Given the description of an element on the screen output the (x, y) to click on. 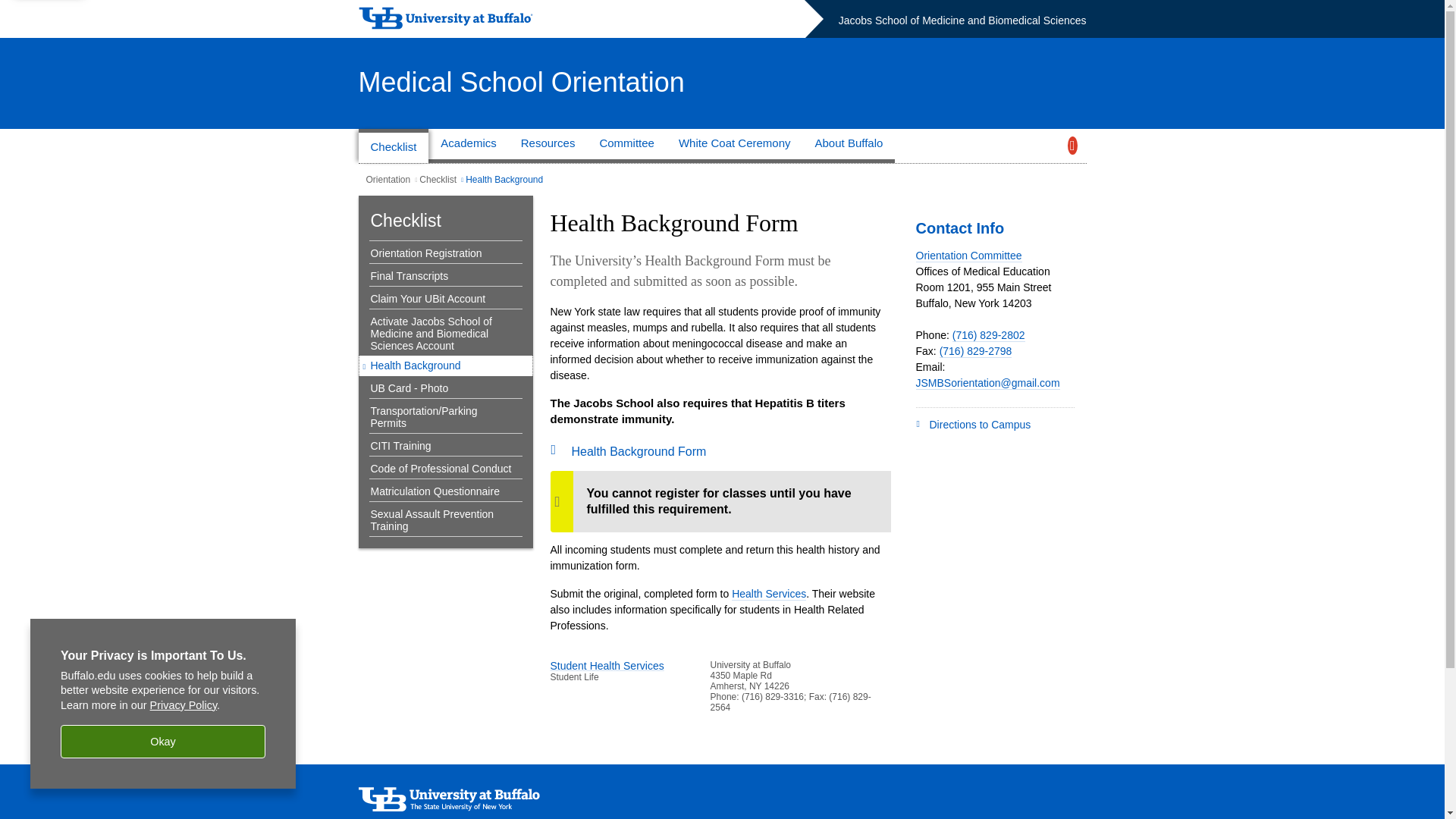
Resources (548, 145)
Committee (626, 145)
Academics (468, 145)
Orientation (387, 179)
About Buffalo (849, 145)
Medical School Orientation (521, 81)
Checklist (393, 145)
White Coat Ceremony (734, 145)
Jacobs School of Medicine and Biomedical Sciences (962, 19)
